Given the description of an element on the screen output the (x, y) to click on. 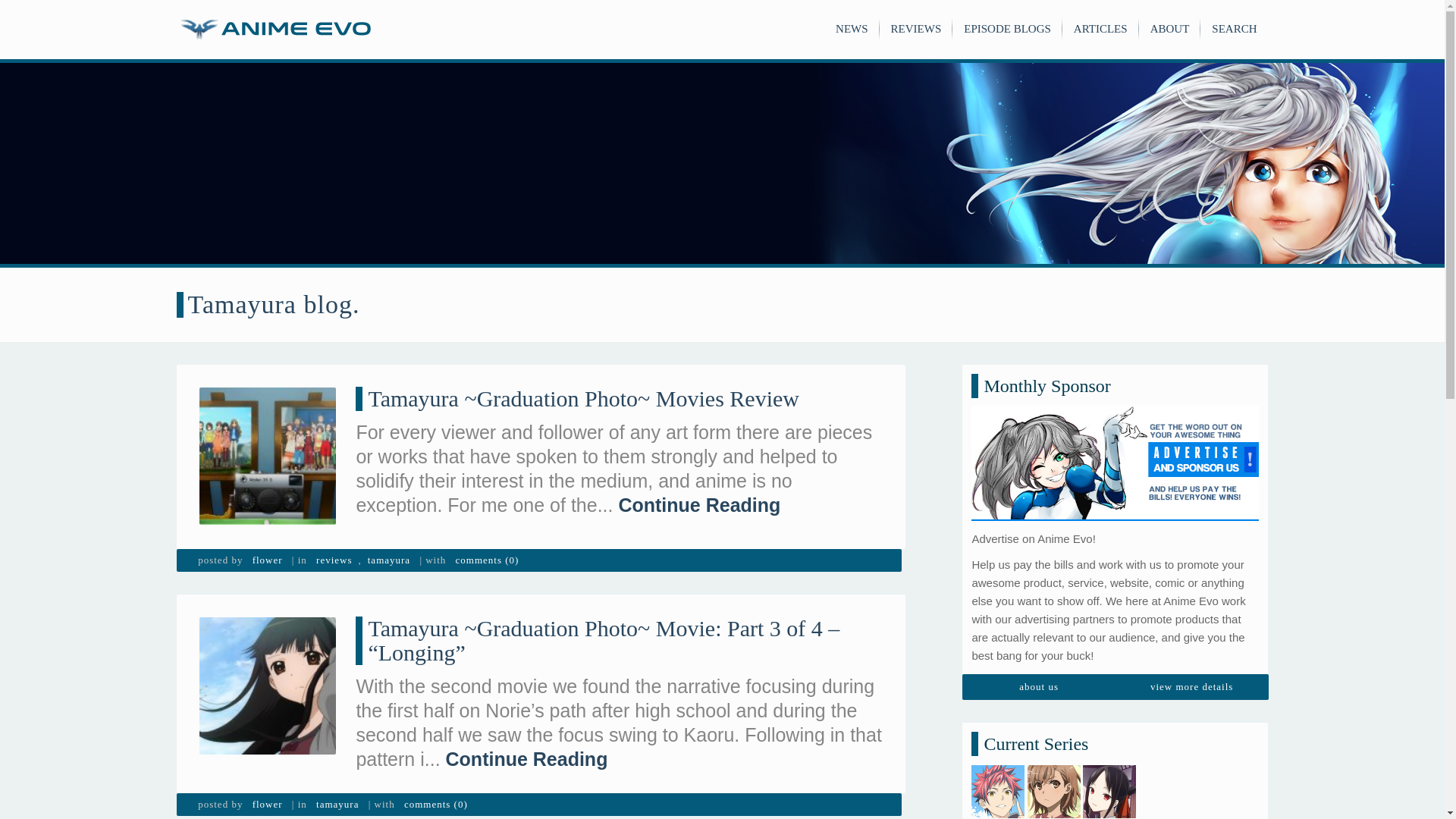
Continue Reading (526, 758)
about us (1038, 687)
Tamayura blog. (273, 304)
tamayura (337, 804)
Continue Reading (698, 504)
reviews (334, 559)
tamayura (388, 559)
SEARCH (1233, 28)
flower (267, 804)
EPISODE BLOGS (1007, 28)
